Given the description of an element on the screen output the (x, y) to click on. 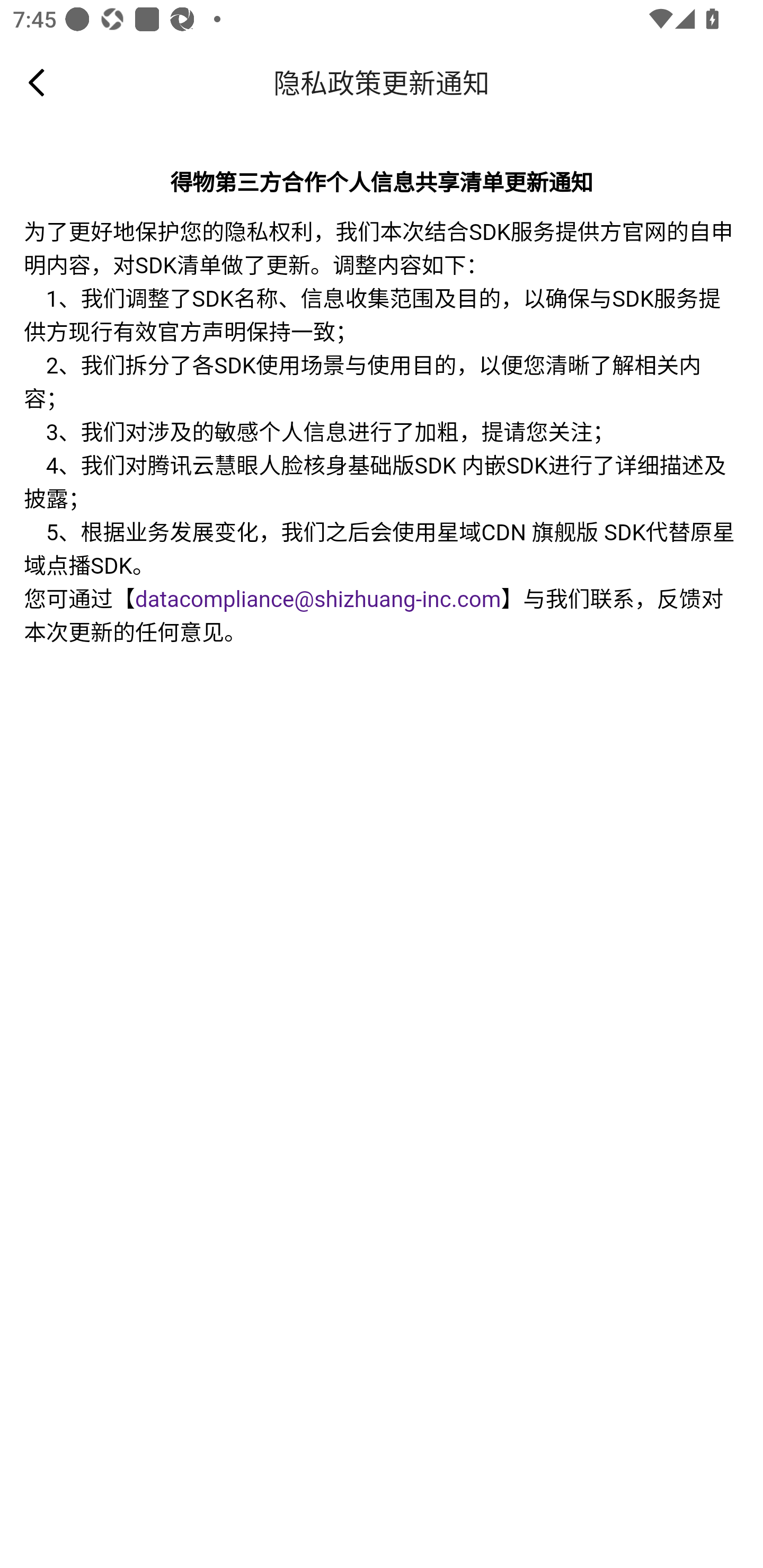
Navigate up (36, 82)
datacompliance@shizhuang-inc.com (318, 599)
